Given the description of an element on the screen output the (x, y) to click on. 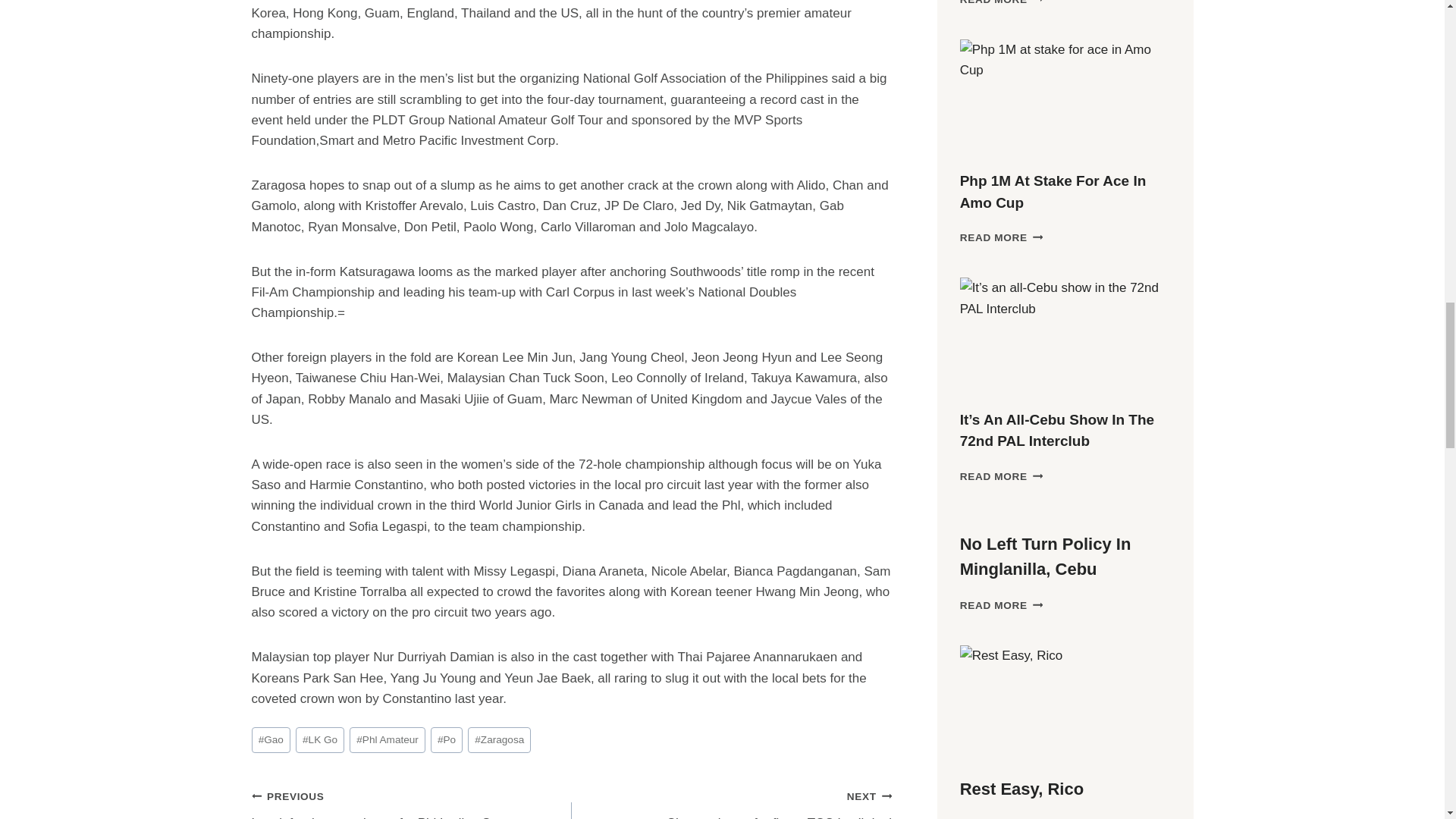
Zaragosa (499, 740)
Po (446, 740)
Phl Amateur (387, 740)
Gao (271, 740)
LK Go (319, 740)
